Given the description of an element on the screen output the (x, y) to click on. 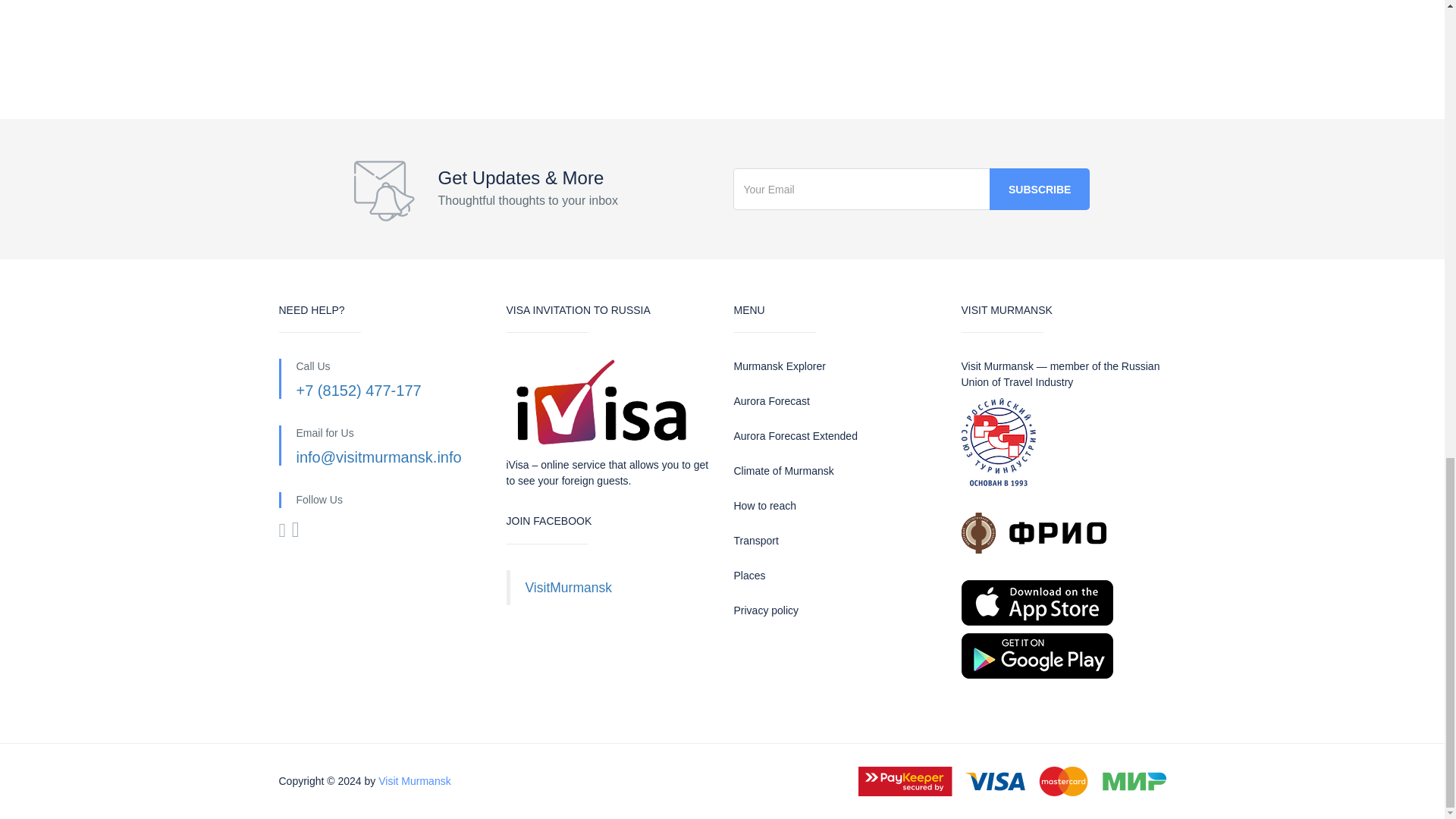
Subscribe (1039, 188)
Subscribe (1039, 188)
